Given the description of an element on the screen output the (x, y) to click on. 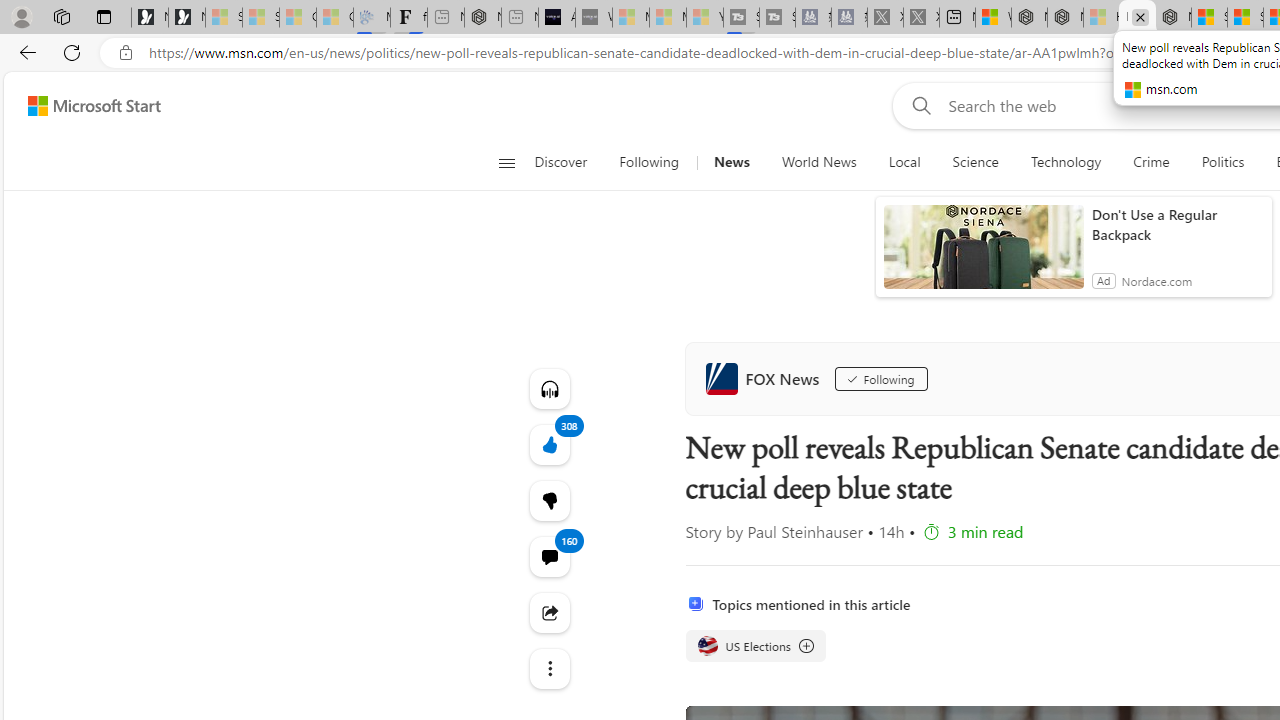
More like this308Fewer like thisView comments (548, 500)
Newsletter Sign Up (186, 17)
Skip to content (86, 105)
Share this story (548, 612)
Nordace.com (1156, 280)
Share this story (548, 612)
Microsoft Start - Sleeping (668, 17)
Technology (1066, 162)
